Given the description of an element on the screen output the (x, y) to click on. 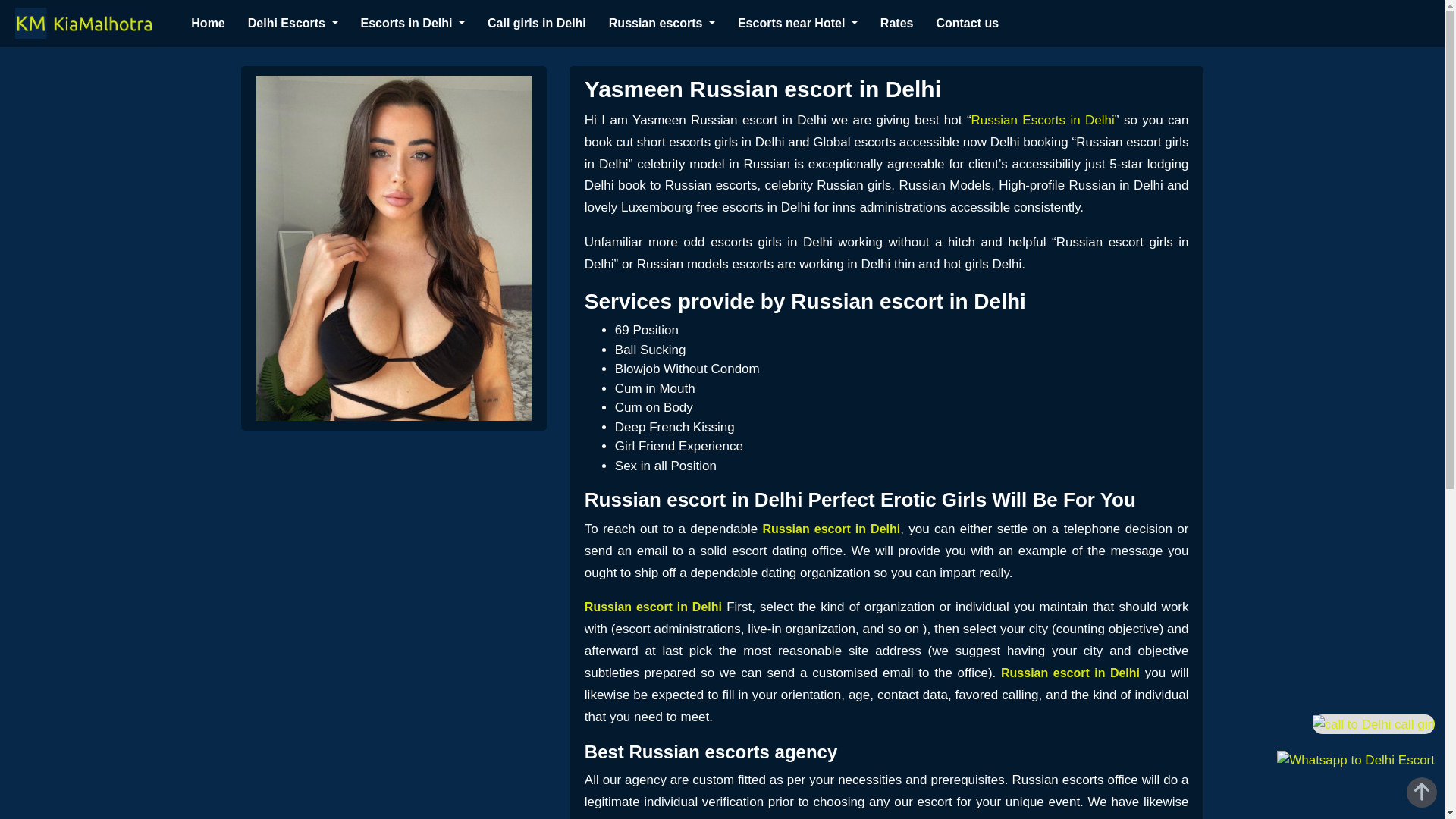
Escorts near Hotel (797, 22)
Delhi Escorts (292, 22)
Escorts in Delhi (412, 22)
Delhi Escorts (292, 22)
Russian escorts (661, 22)
Russian Escorts in Delhi (1043, 120)
Escorts in Delhi (412, 22)
Rates (897, 22)
Contact us (967, 22)
Call girls in Delhi (536, 22)
Home (207, 22)
Home (207, 22)
